Given the description of an element on the screen output the (x, y) to click on. 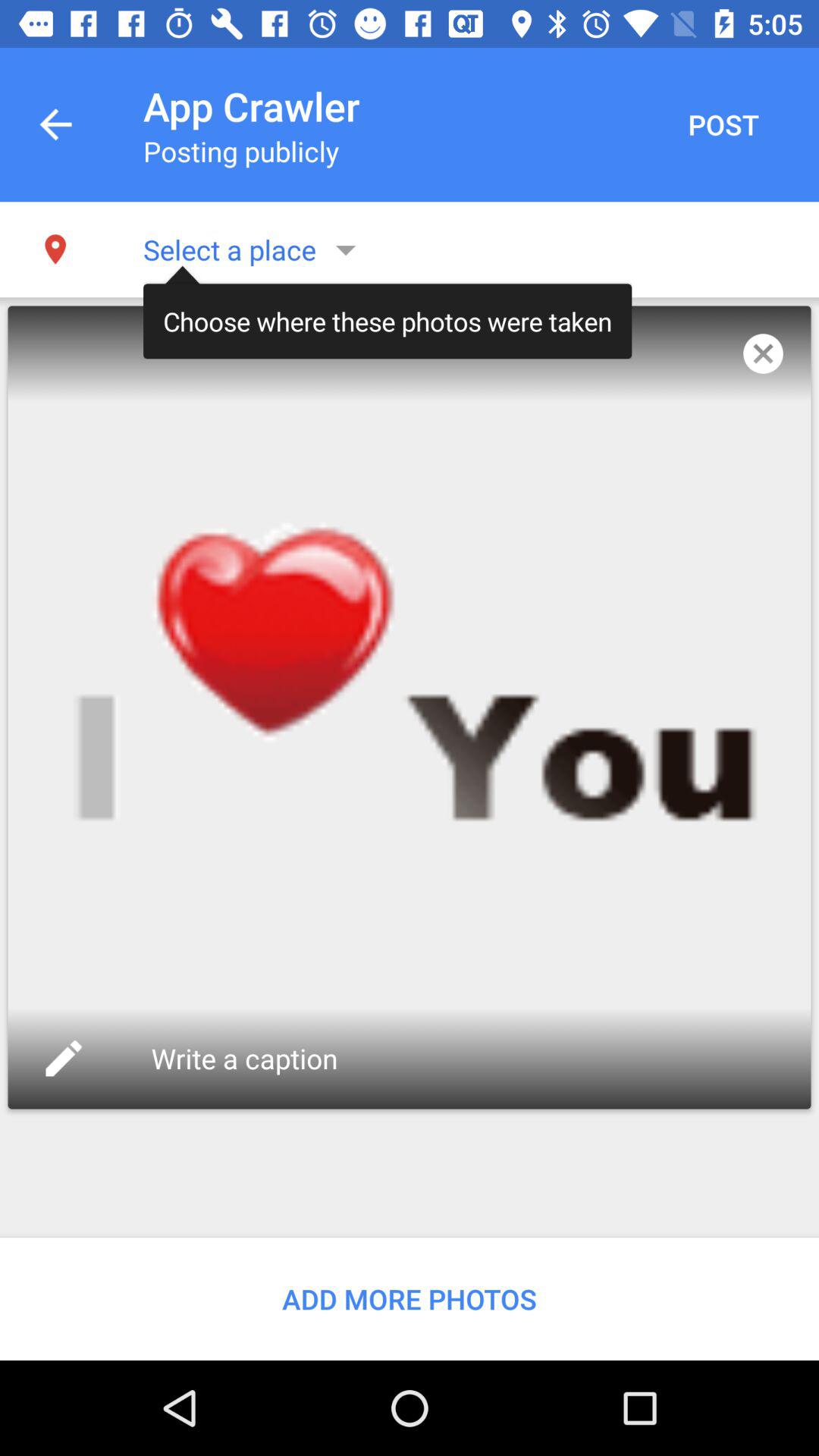
swipe until the post item (723, 124)
